Given the description of an element on the screen output the (x, y) to click on. 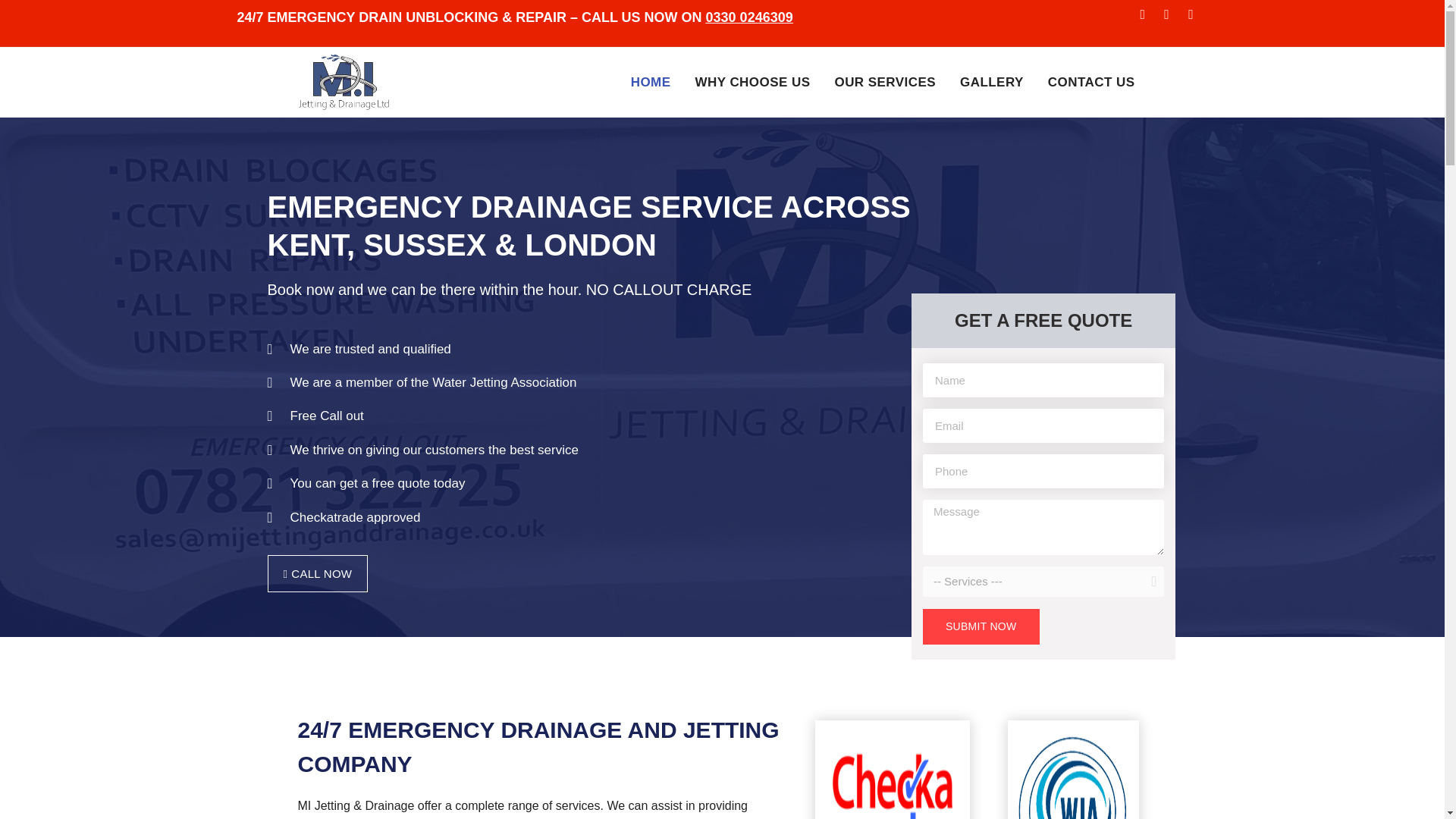
SUBMIT NOW (981, 626)
HOME (650, 82)
0330 0246309 (749, 17)
WHY CHOOSE US (752, 82)
GALLERY (991, 82)
CALL NOW (317, 573)
CONTACT US (1091, 82)
OUR SERVICES (884, 82)
